Given the description of an element on the screen output the (x, y) to click on. 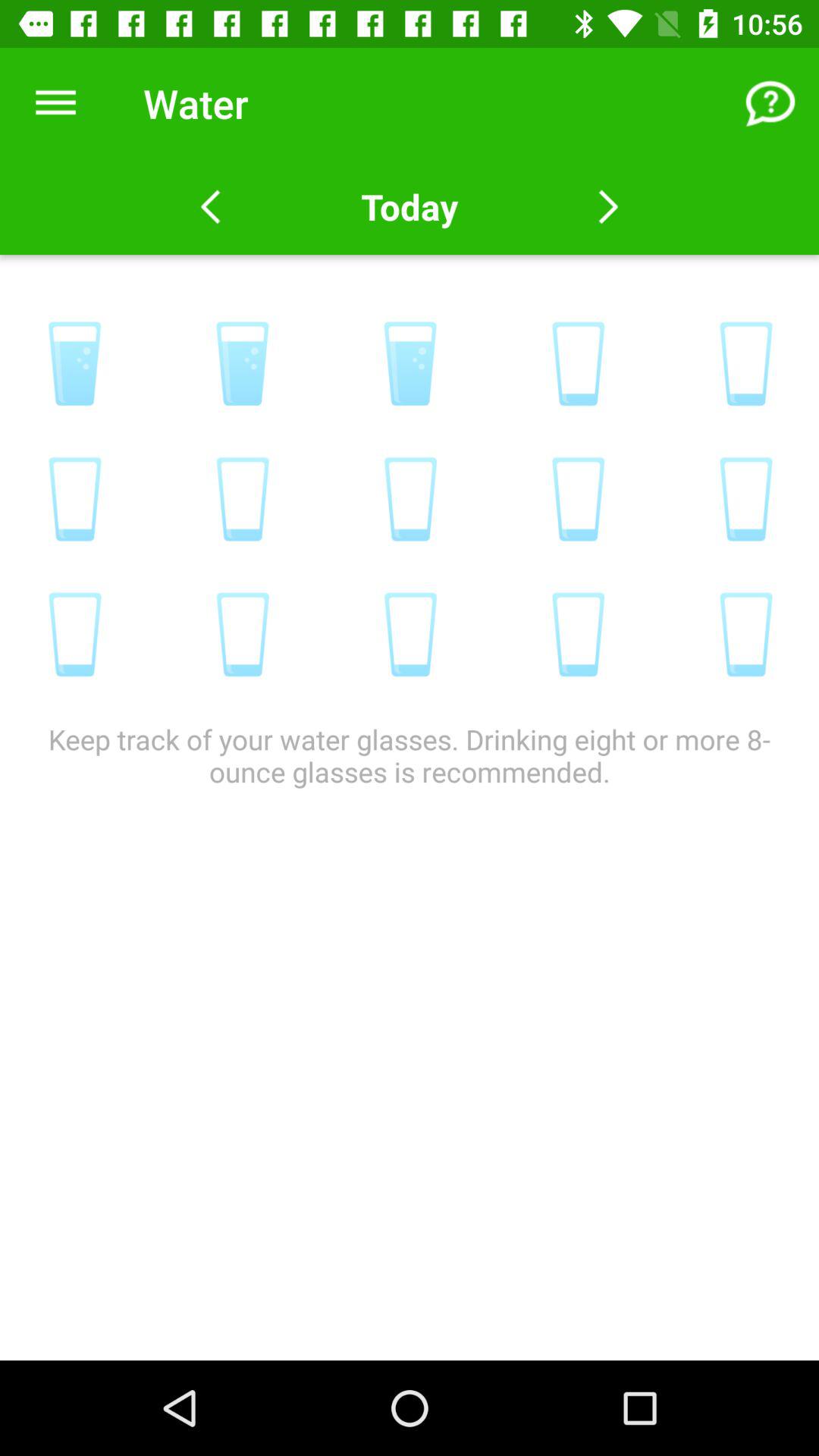
come back (608, 206)
